Given the description of an element on the screen output the (x, y) to click on. 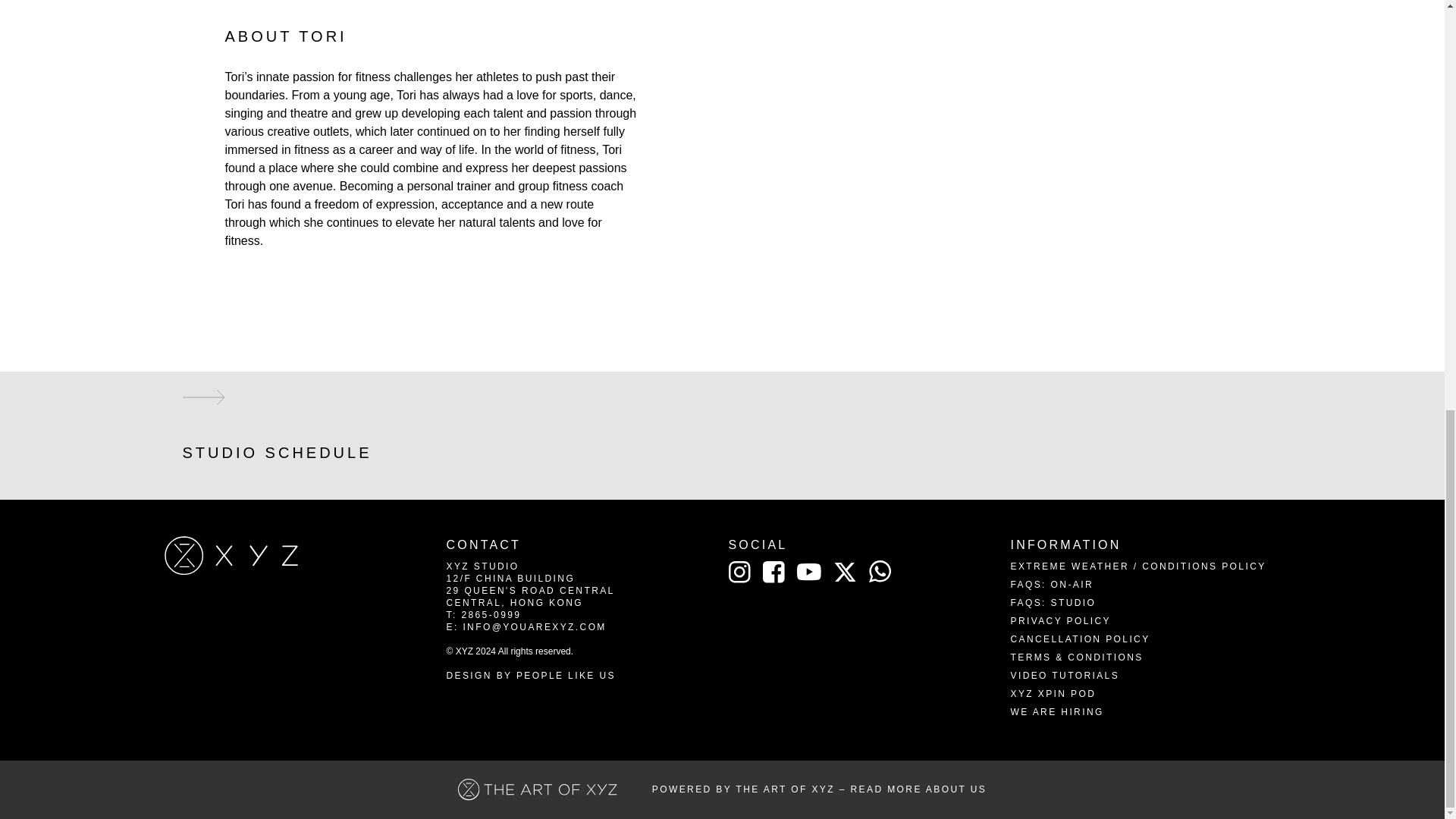
2865-0999 (491, 614)
DESIGN BY PEOPLE LIKE US (529, 675)
